Given the description of an element on the screen output the (x, y) to click on. 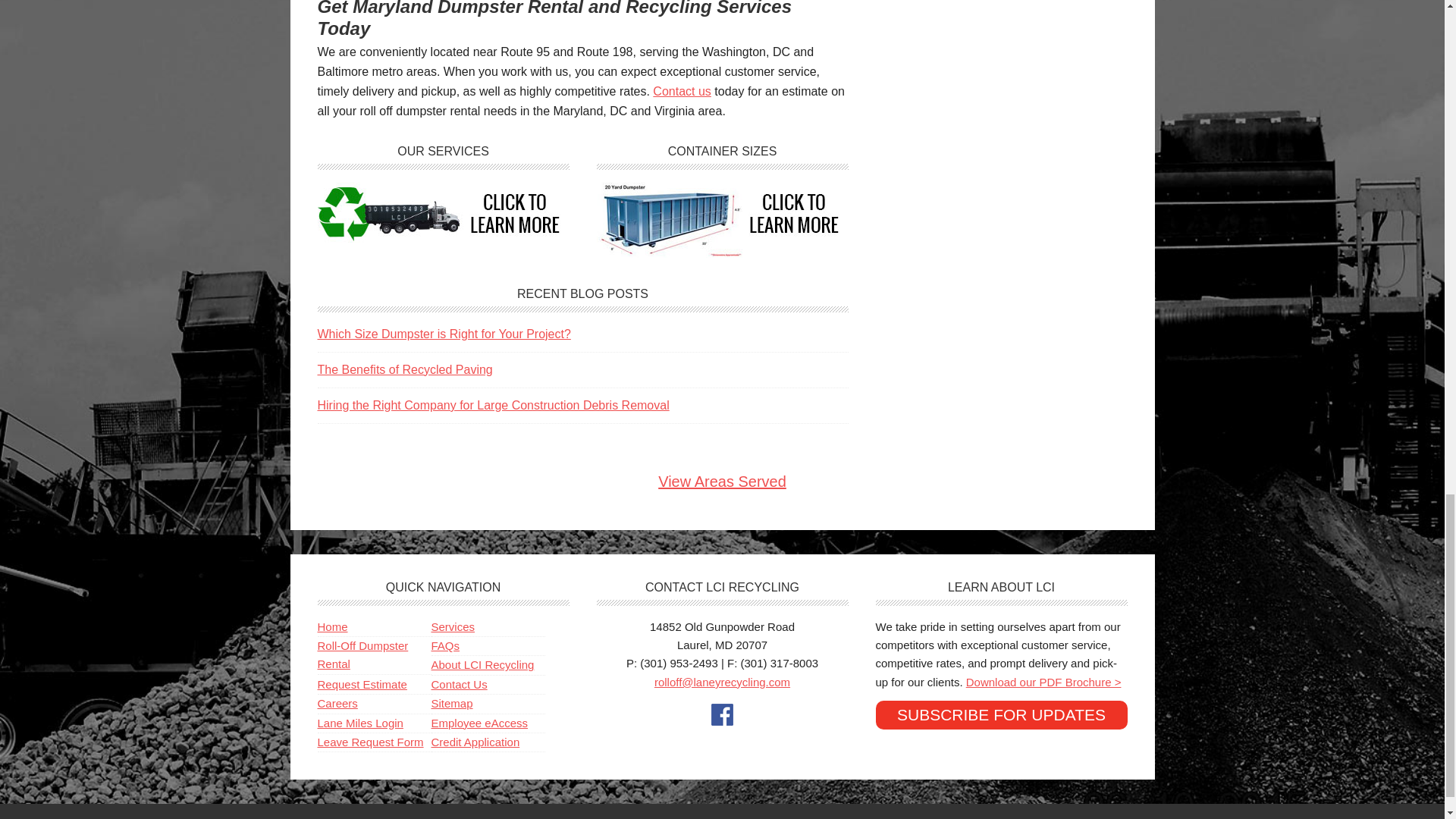
Contact us (681, 91)
